Given the description of an element on the screen output the (x, y) to click on. 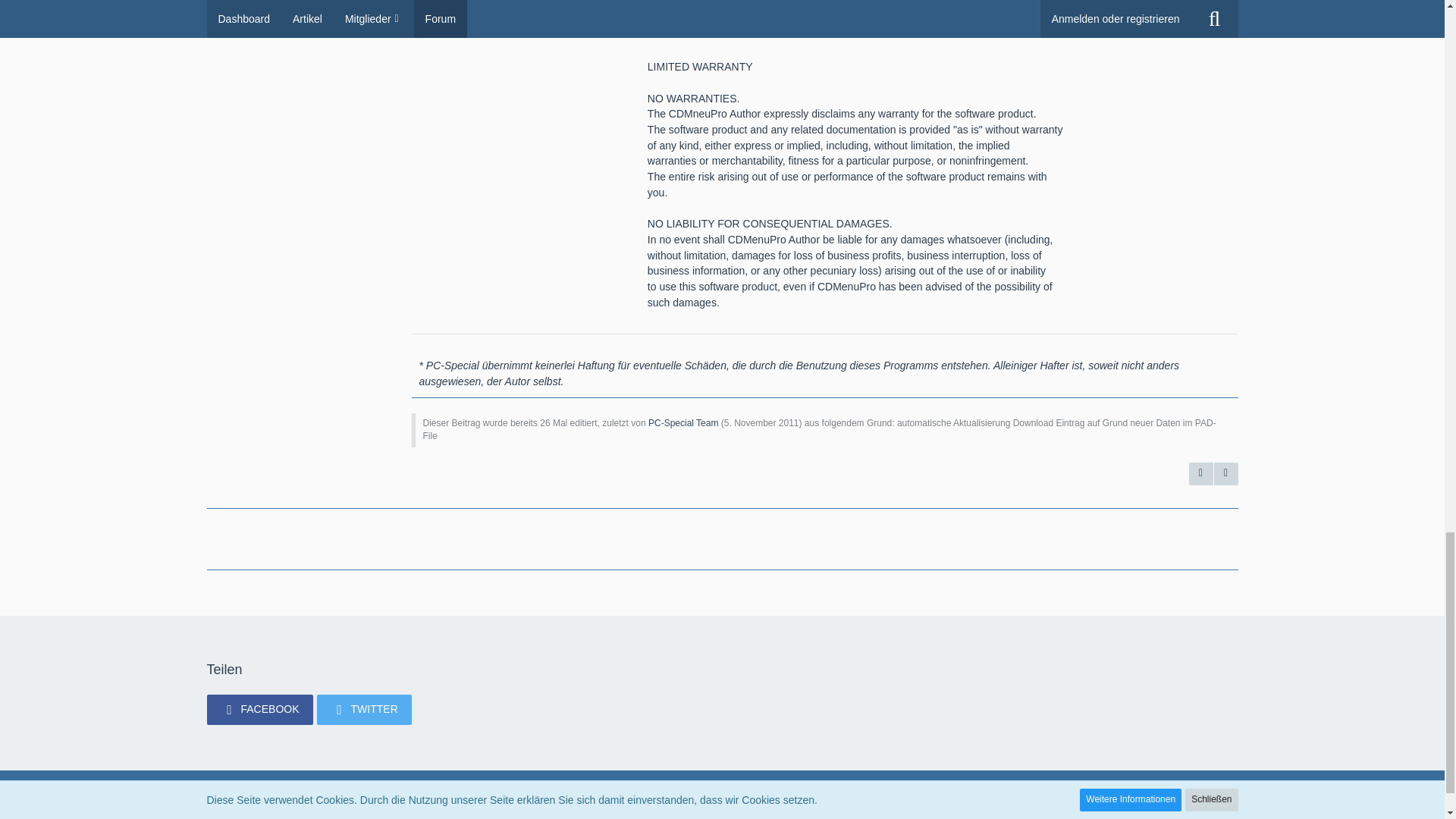
PC-Special Team (682, 421)
FACEBOOK (259, 709)
Twitter (364, 709)
Facebook (259, 709)
TWITTER (364, 709)
5. November 2011, 04:28 (761, 421)
